Given the description of an element on the screen output the (x, y) to click on. 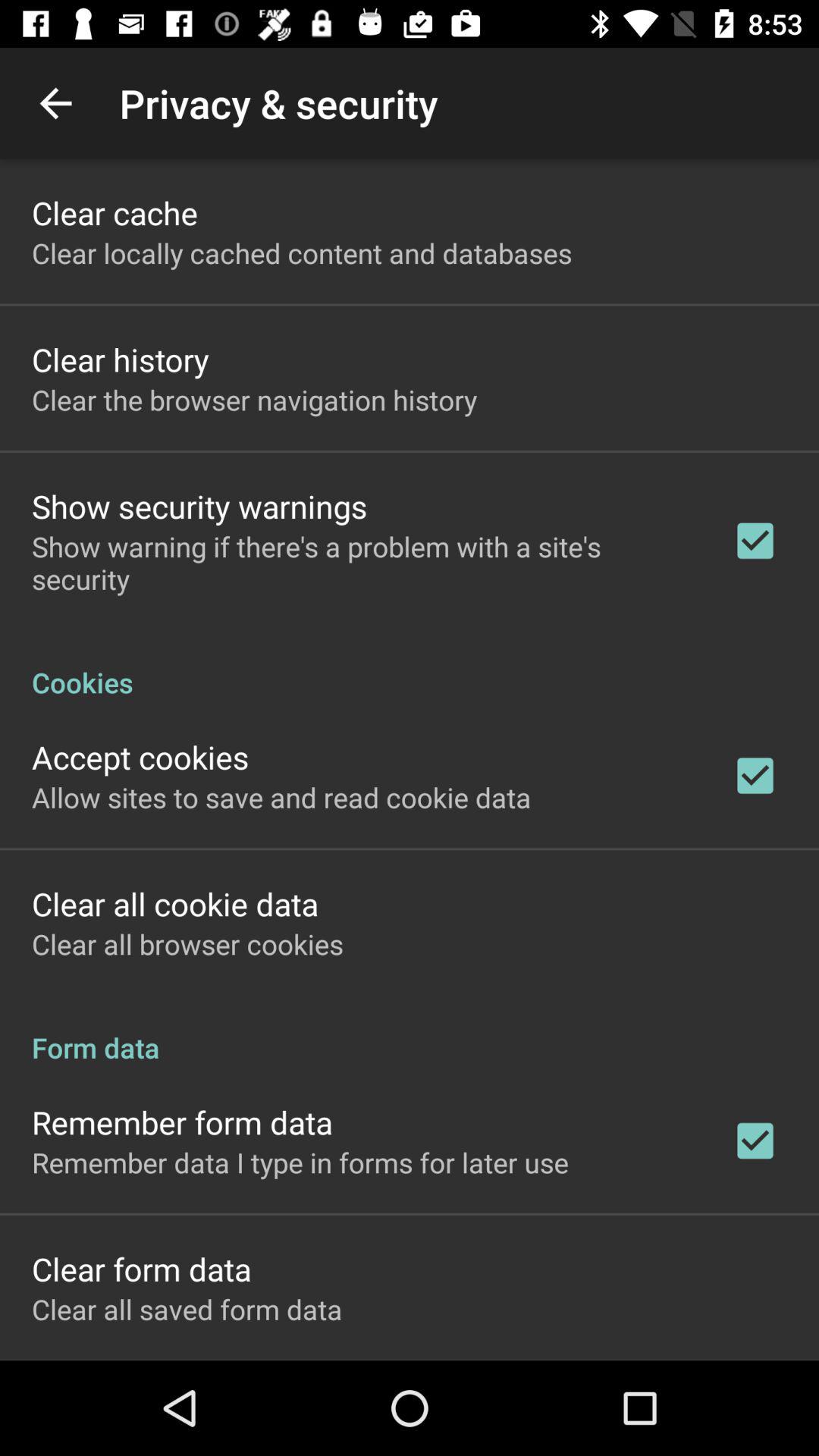
select icon below accept cookies item (281, 797)
